Given the description of an element on the screen output the (x, y) to click on. 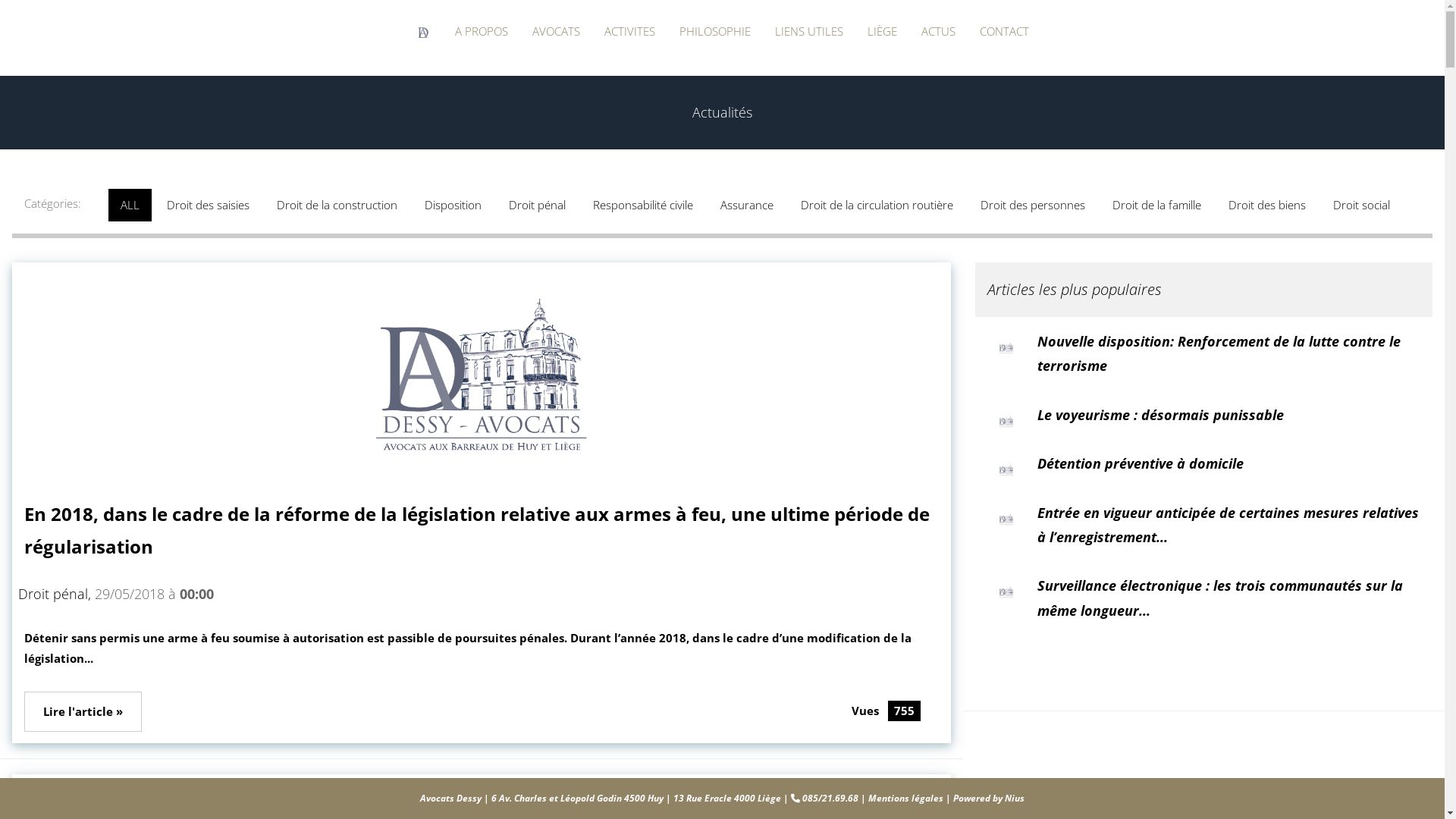
Disposition Element type: text (454, 202)
Assurance Element type: text (746, 204)
CONTACT Element type: text (1004, 31)
Droit social Element type: text (1361, 202)
LIENS UTILES Element type: text (808, 31)
ACTUS Element type: text (938, 31)
Droit des saisies Element type: text (207, 204)
Droit des saisies Element type: text (209, 202)
Droit social Element type: text (1361, 204)
AVOCATS Element type: text (556, 31)
ALL Element type: text (129, 204)
A PROPOS Element type: text (481, 31)
Droit des biens Element type: text (1268, 202)
Droit de la construction Element type: text (338, 202)
ALL Element type: text (131, 202)
Droit des personnes Element type: text (1034, 202)
Nius Element type: text (1014, 797)
PHILOSOPHIE Element type: text (714, 31)
ACTIVITES Element type: text (629, 31)
Droit des biens Element type: text (1266, 204)
Assurance Element type: text (748, 202)
Droit des personnes Element type: text (1032, 204)
Droit de la famille Element type: text (1156, 204)
085/21.69.68 Element type: text (830, 797)
Disposition Element type: text (452, 204)
Droit de la construction Element type: text (336, 204)
Droit de la famille Element type: text (1158, 202)
